Given the description of an element on the screen output the (x, y) to click on. 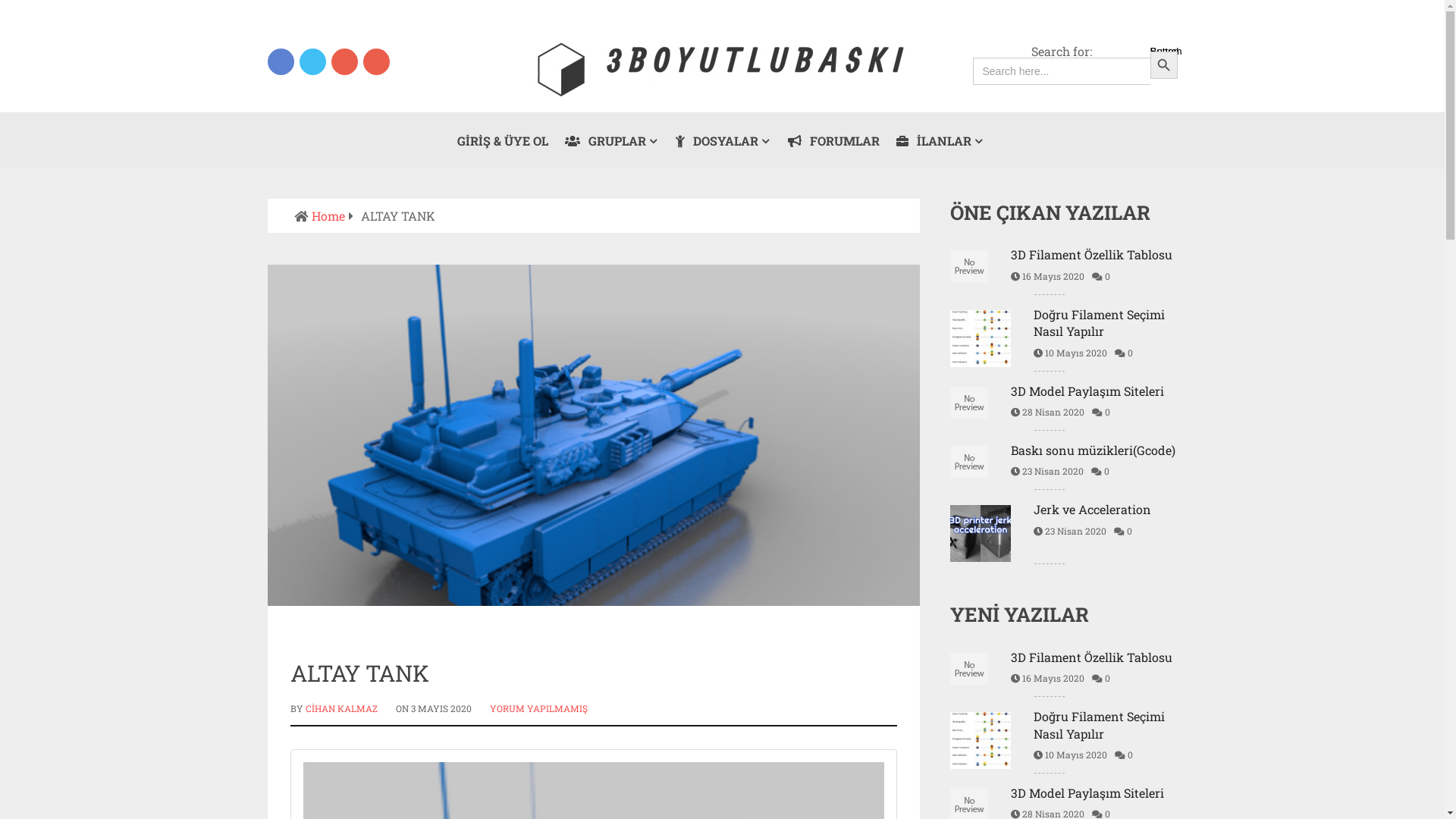
DOSYALAR Element type: text (723, 140)
Home Element type: text (327, 215)
Search Button Element type: text (1162, 64)
CIHAN KALMAZ Element type: text (340, 708)
GRUPLAR Element type: text (611, 140)
FORUMLAR Element type: text (833, 140)
Jerk ve Acceleration Element type: text (1062, 509)
